Given the description of an element on the screen output the (x, y) to click on. 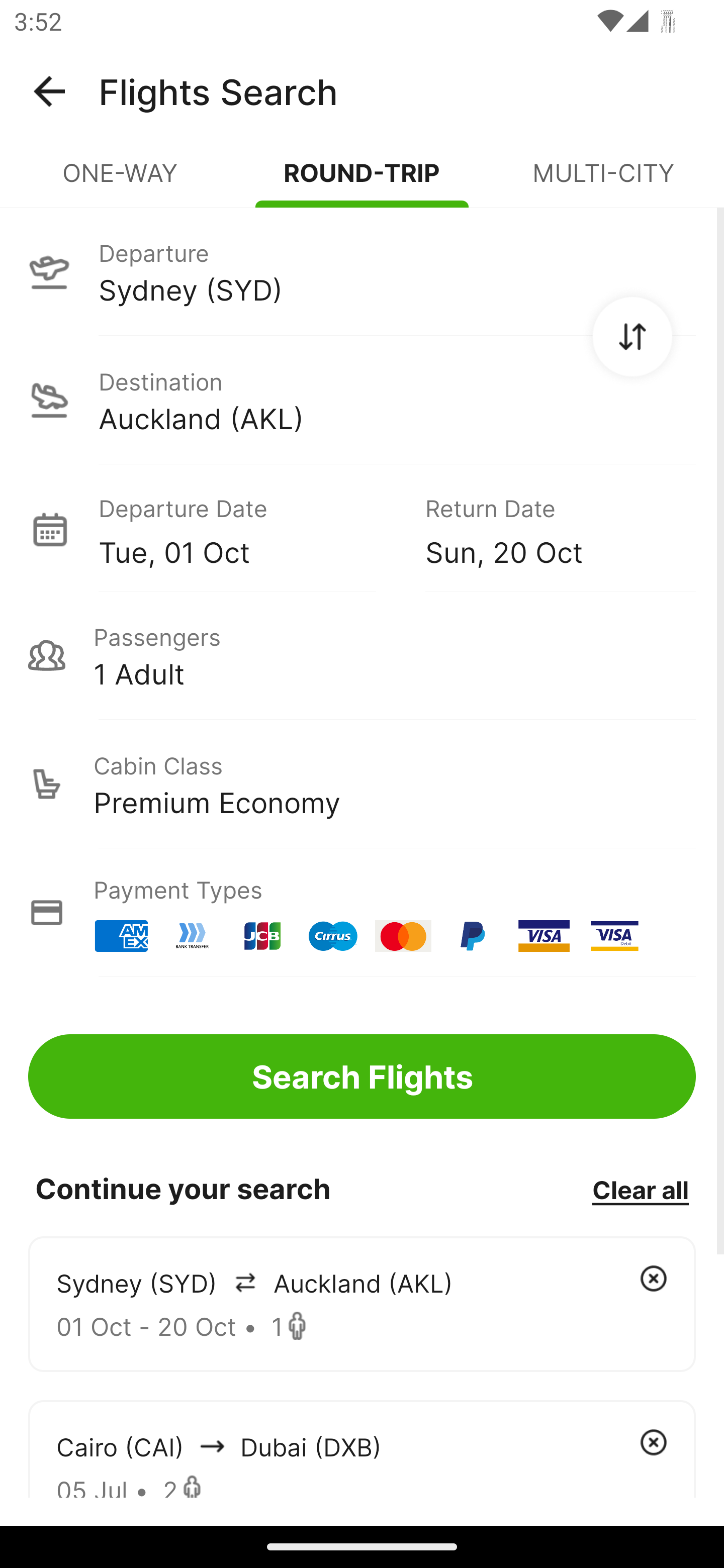
ONE-WAY (120, 180)
ROUND-TRIP (361, 180)
MULTI-CITY (603, 180)
Departure Sydney (SYD) (362, 270)
Destination Auckland (AKL) (362, 400)
Departure Date Tue, 01 Oct (247, 528)
Return Date Sun, 20 Oct (546, 528)
Passengers 1 Adult (362, 655)
Cabin Class Premium Economy (362, 783)
Payment Types (362, 912)
Search Flights (361, 1075)
Clear all (640, 1189)
Cairo (CAI)  arrowIcon  Dubai (DXB) 05 Jul •  2  (361, 1448)
